Given the description of an element on the screen output the (x, y) to click on. 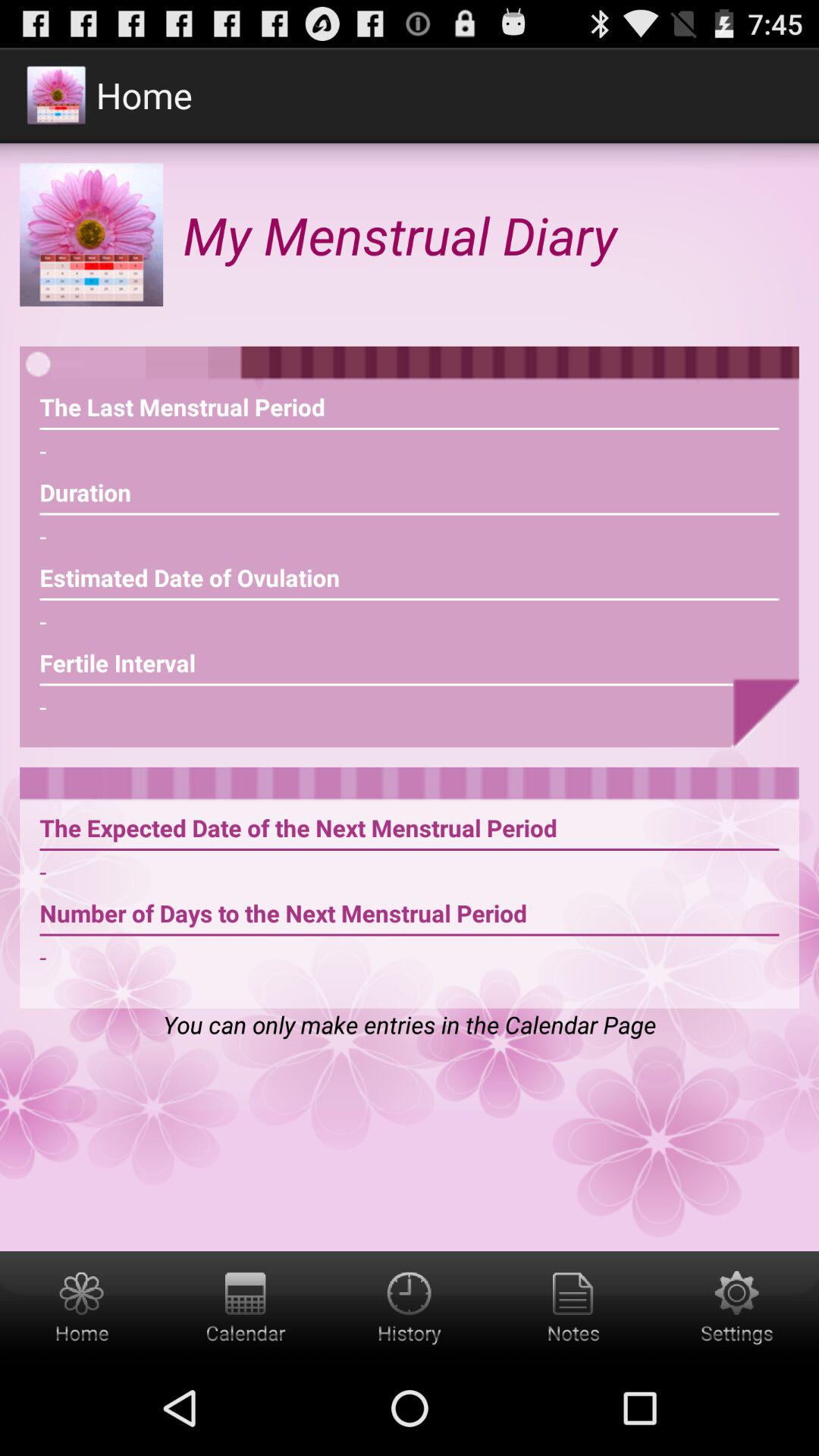
open to be history of searching file (409, 1305)
